Given the description of an element on the screen output the (x, y) to click on. 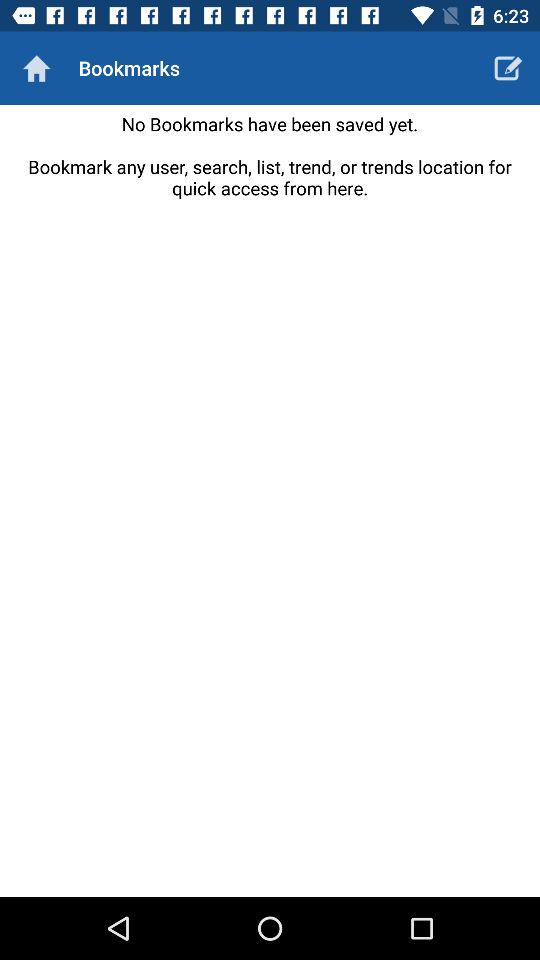
select icon to the right of bookmarks icon (508, 67)
